Given the description of an element on the screen output the (x, y) to click on. 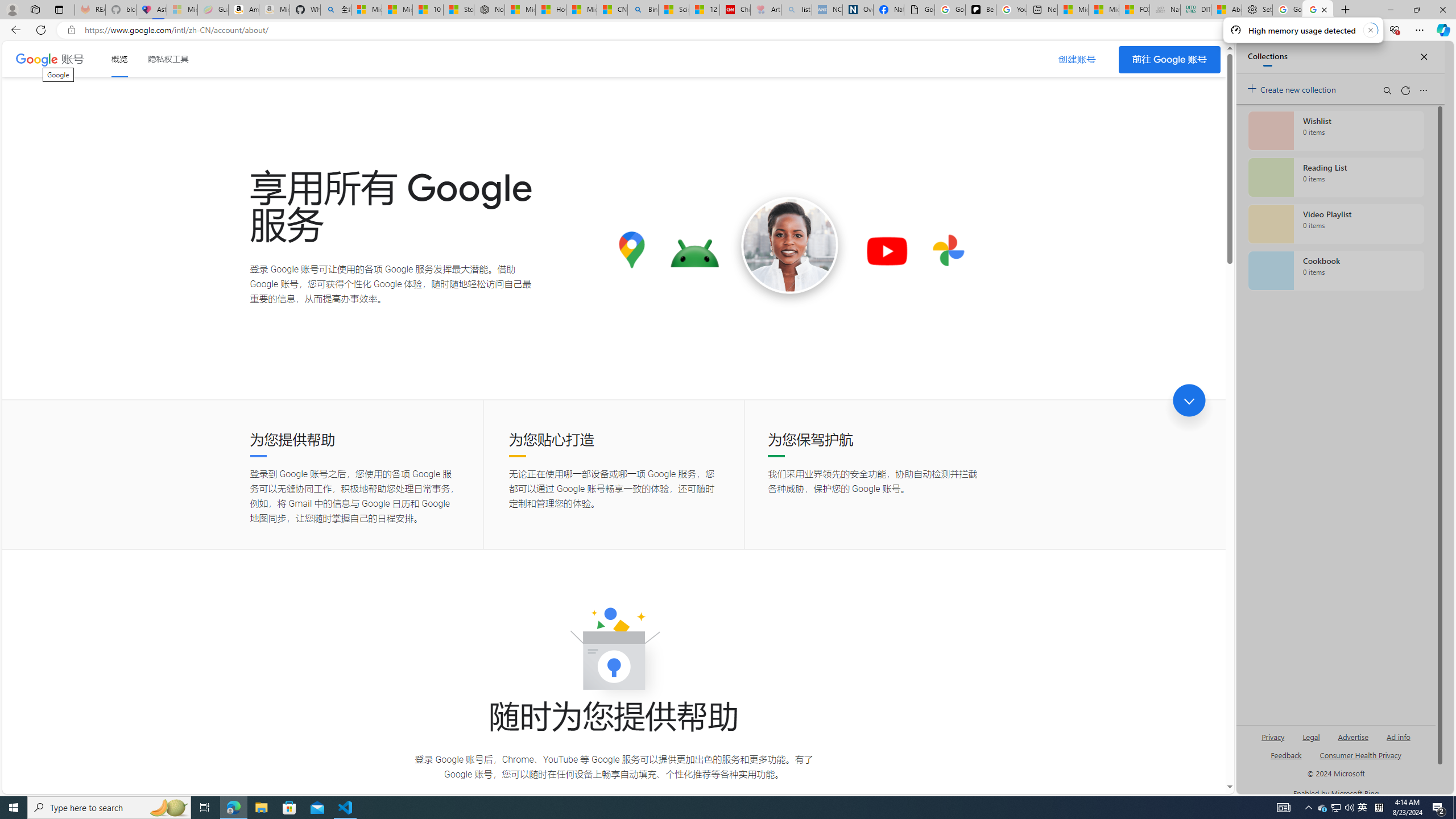
CNN - MSN (611, 9)
